Given the description of an element on the screen output the (x, y) to click on. 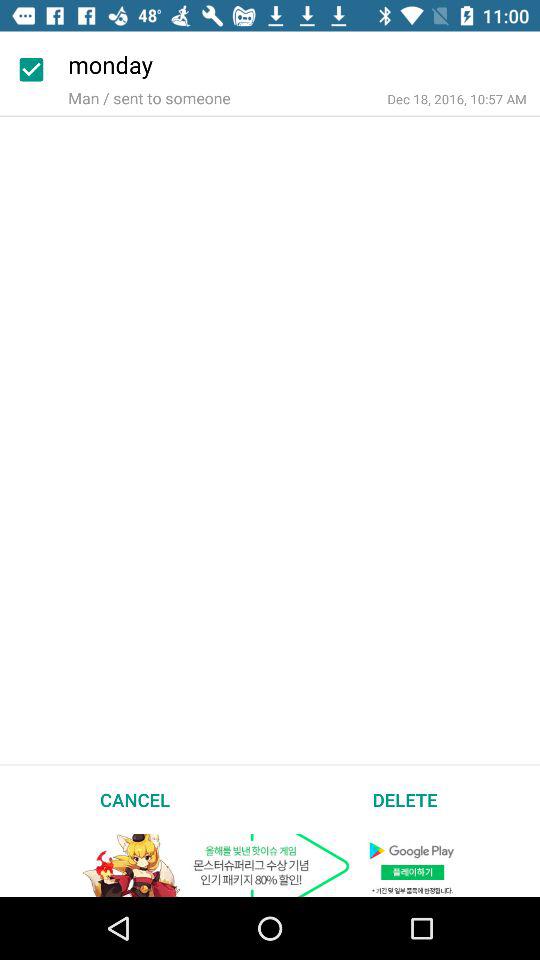
launch item at the bottom left corner (135, 799)
